Given the description of an element on the screen output the (x, y) to click on. 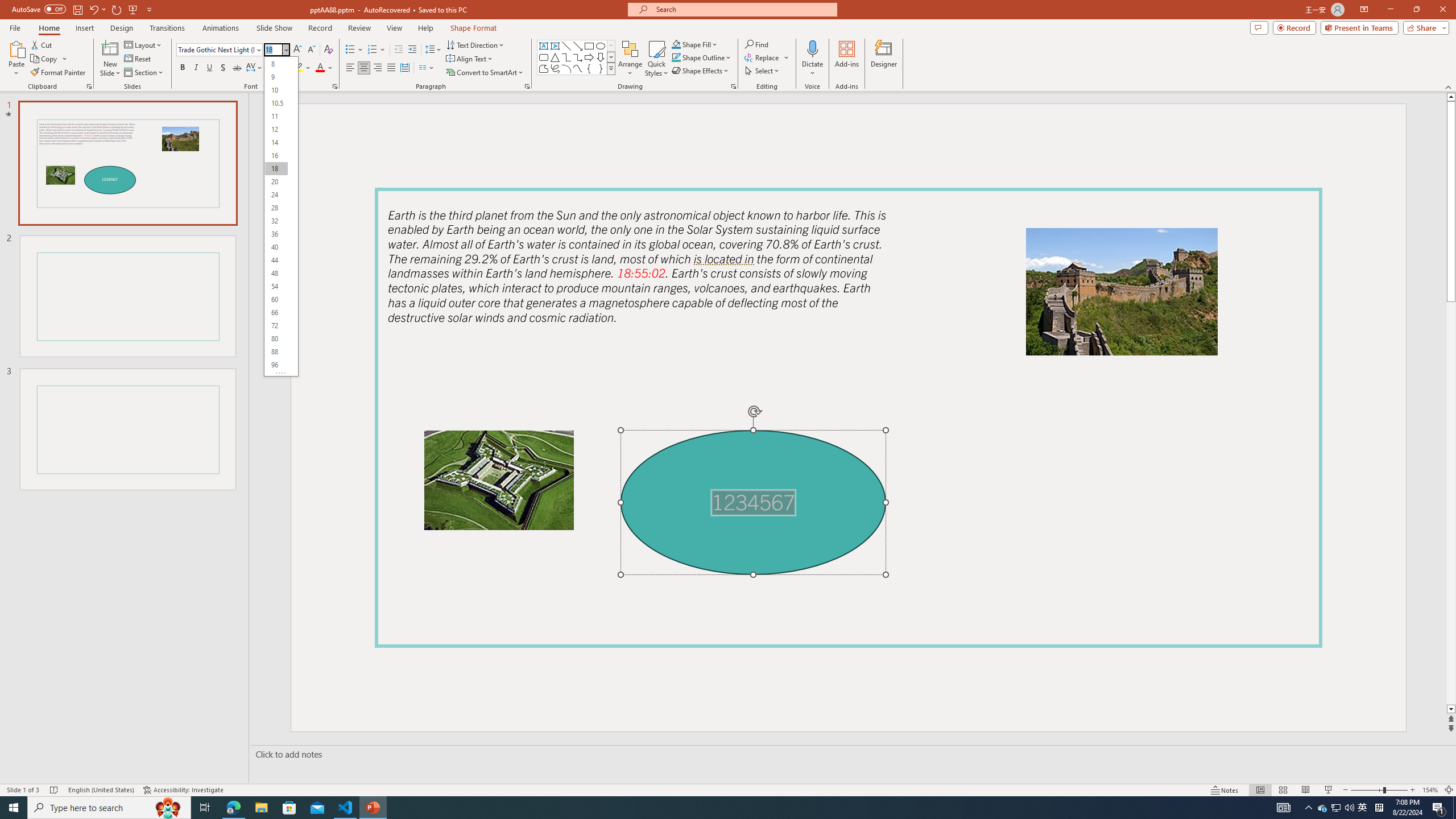
14 (276, 142)
24 (276, 194)
66 (276, 312)
